Given the description of an element on the screen output the (x, y) to click on. 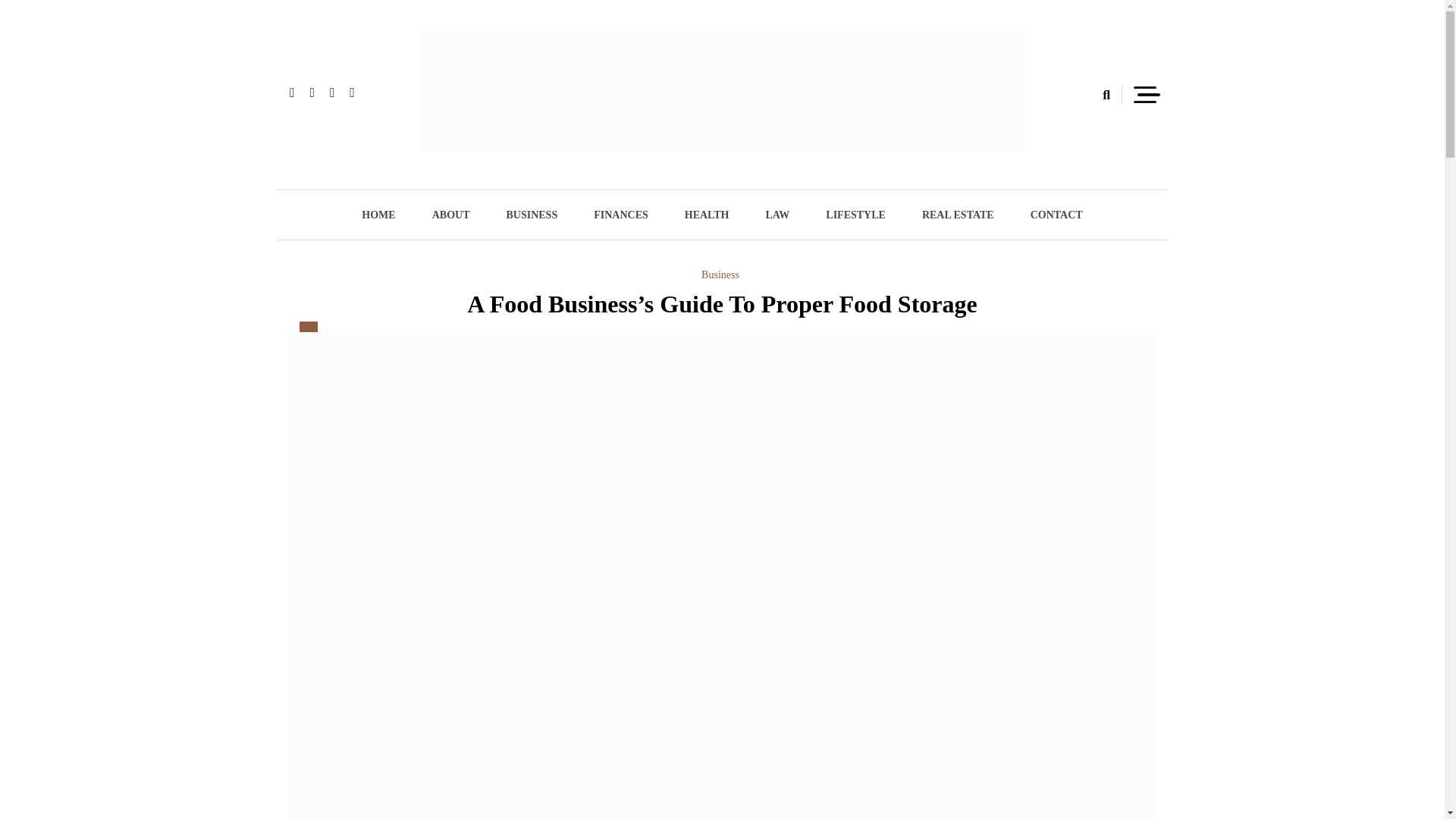
BUSINESS (531, 214)
HOME (378, 214)
Business (720, 274)
REAL ESTATE (957, 214)
HEALTH (707, 214)
FINANCES (620, 214)
LIFESTYLE (856, 214)
LAW (777, 214)
einsiders (474, 177)
ABOUT (450, 214)
CONTACT (1055, 214)
